Given the description of an element on the screen output the (x, y) to click on. 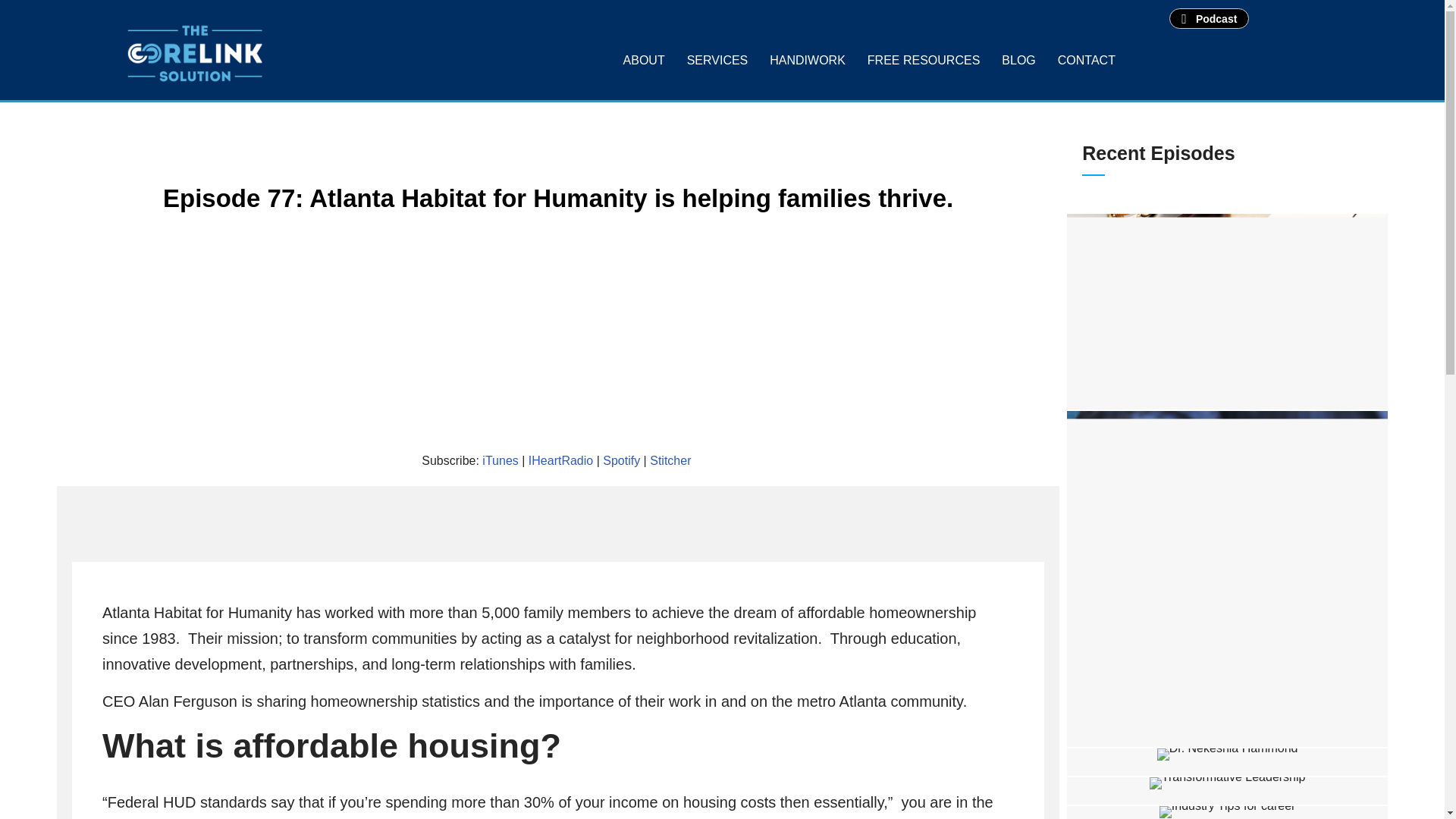
TCS 08022024 FT IMG SIDE HUSTLE (1227, 571)
TRANSFORMATIONAL LEADERSHIP FT IMAGE (1228, 783)
IHeartRadio (560, 460)
HANDIWORK (807, 60)
BLOG (1018, 60)
Spotify (621, 460)
Episode 135: Mastering the Art of Leadership (1227, 790)
Podcast (1209, 18)
SERVICES (717, 60)
